Given the description of an element on the screen output the (x, y) to click on. 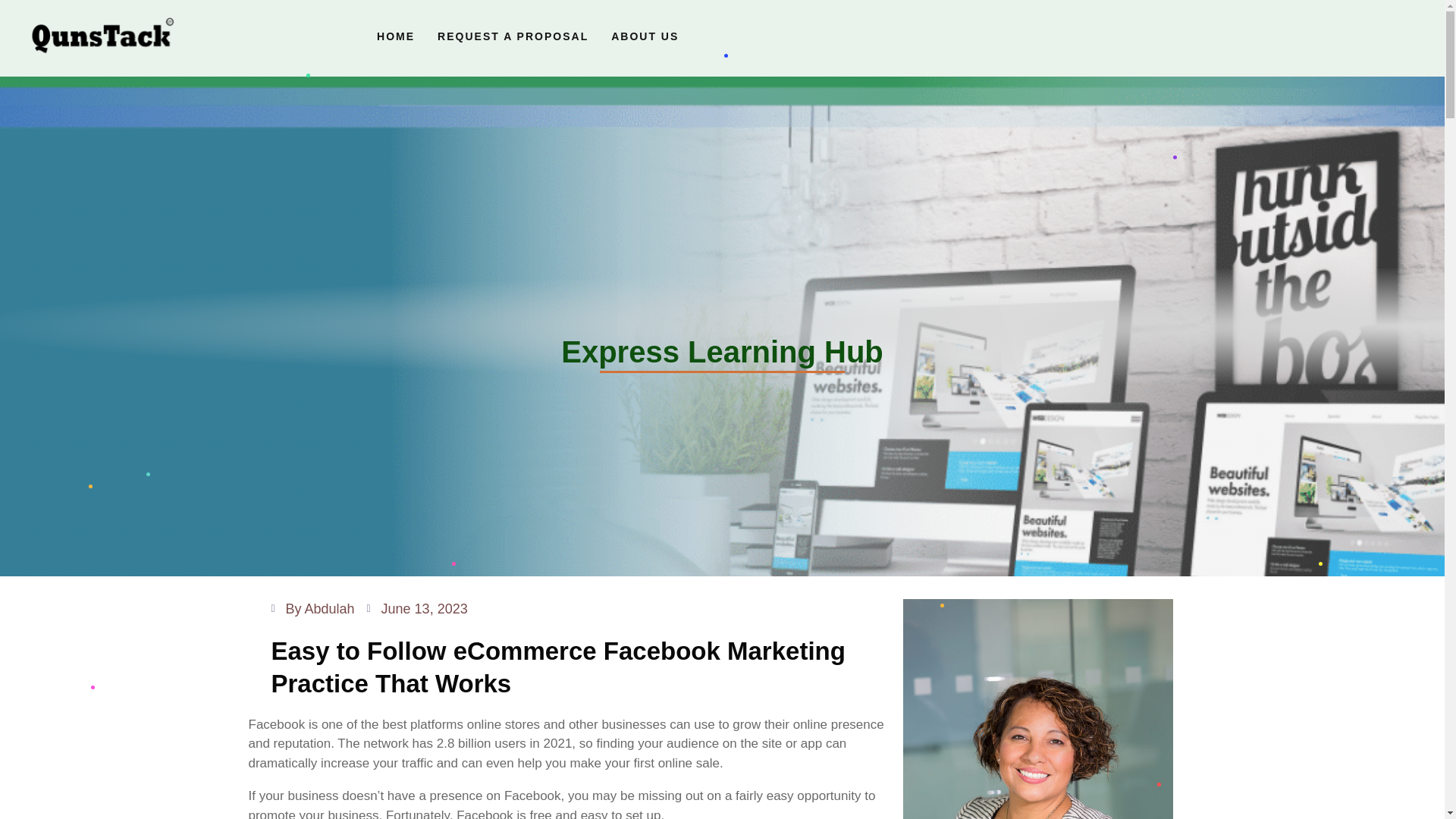
REQUEST A PROPOSAL (513, 35)
woman-smiling-at-the-camera-1181686.jpg (1037, 708)
ABOUT US (644, 35)
QunsTack Logo (102, 38)
